Given the description of an element on the screen output the (x, y) to click on. 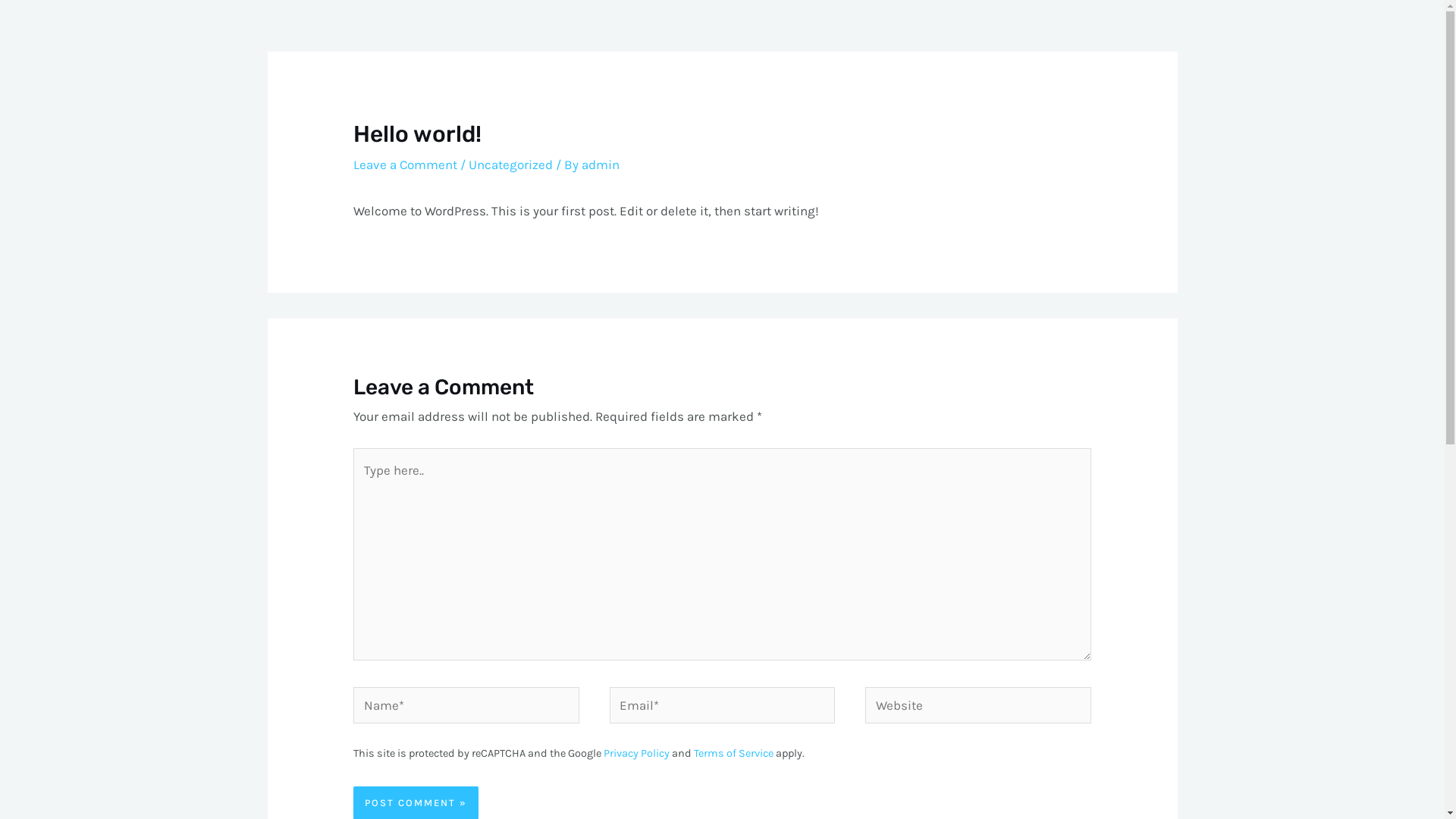
admin Element type: text (600, 164)
Privacy Policy Element type: text (636, 752)
Uncategorized Element type: text (510, 164)
Terms of Service Element type: text (733, 752)
Leave a Comment Element type: text (405, 164)
